Given the description of an element on the screen output the (x, y) to click on. 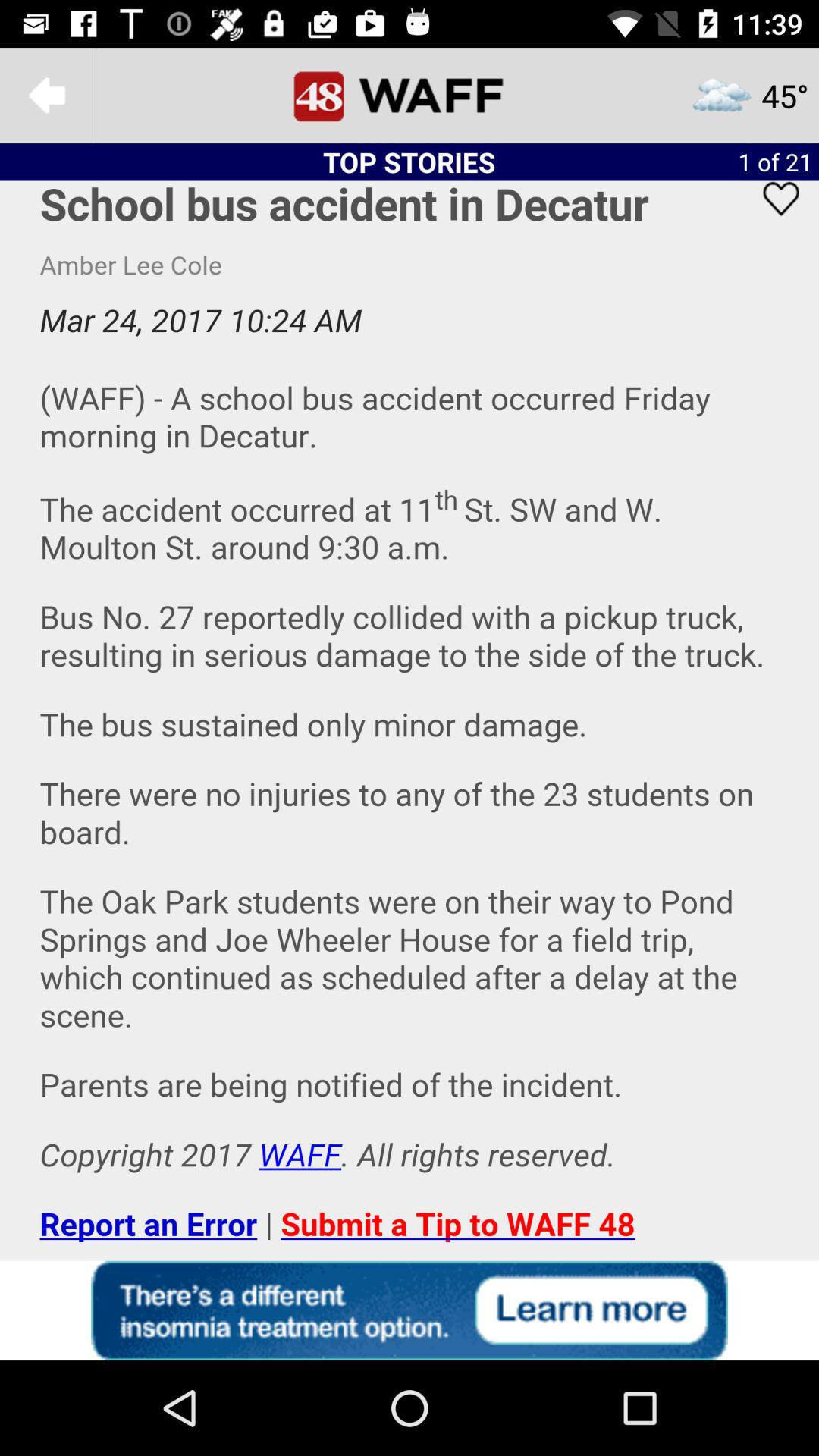
previous page (47, 95)
